Given the description of an element on the screen output the (x, y) to click on. 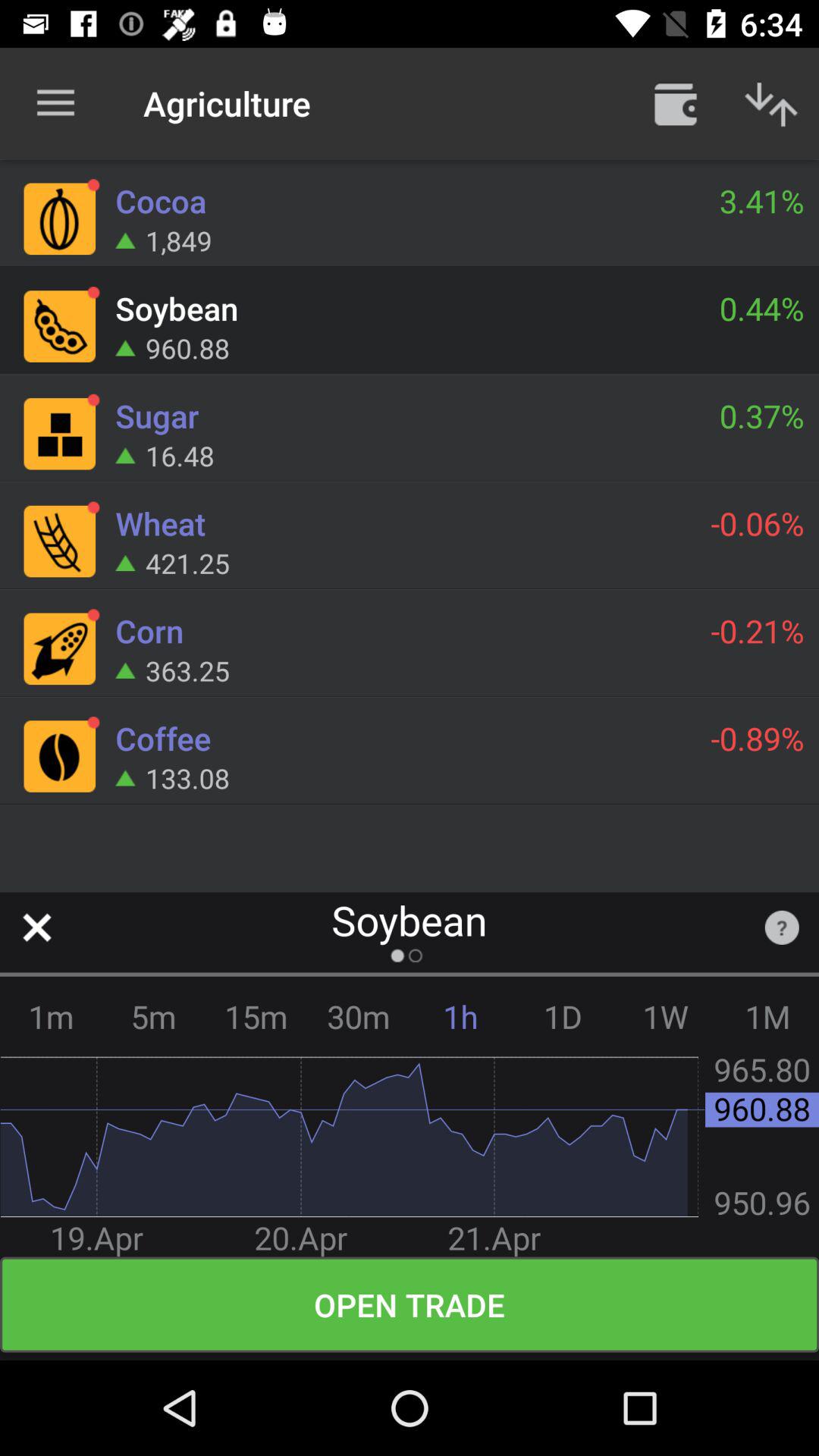
turn off the icon above 3.41% item (675, 103)
